Given the description of an element on the screen output the (x, y) to click on. 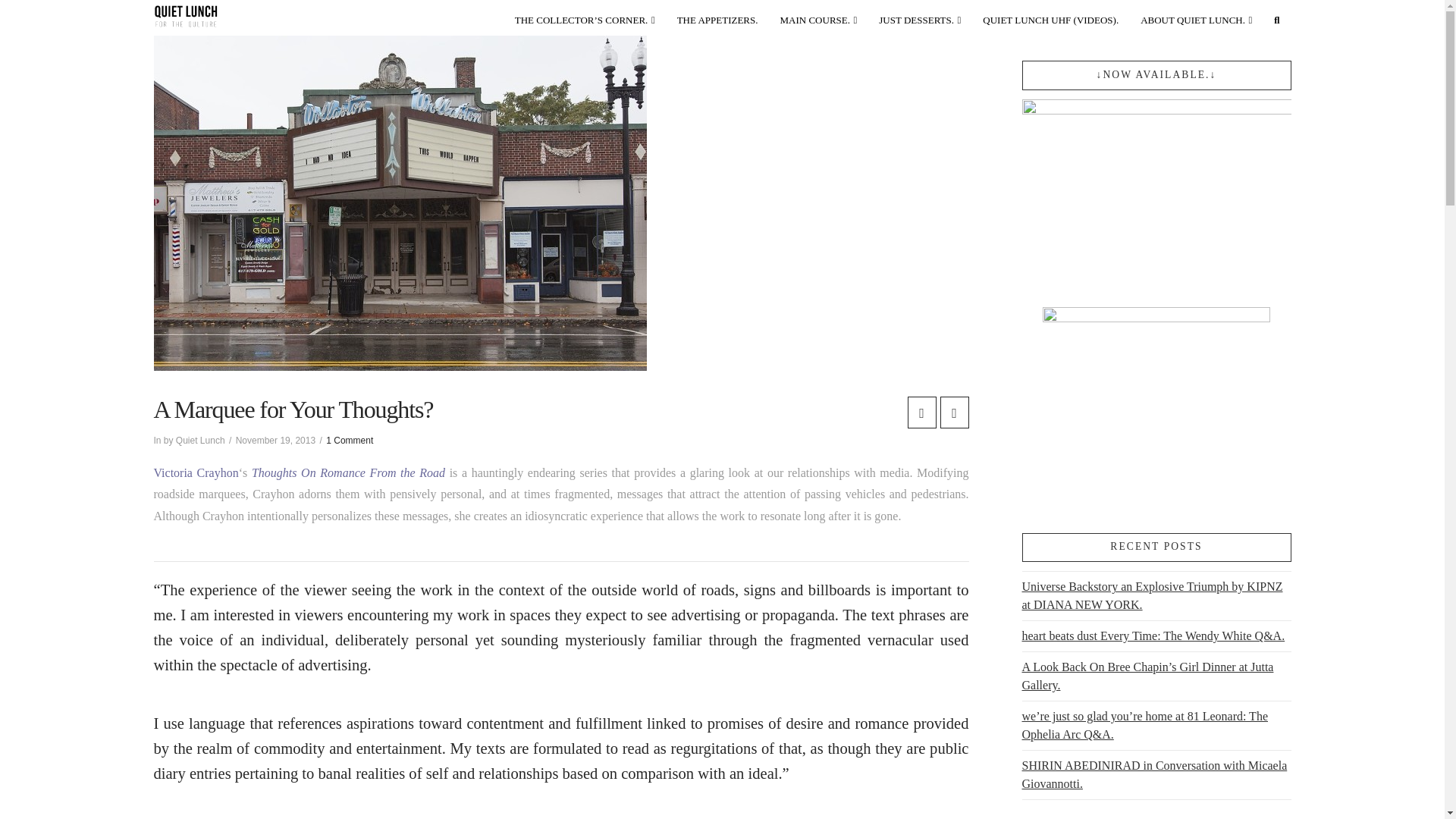
ABOUT QUIET LUNCH. (1196, 17)
THE APPETIZERS. (718, 17)
JUST DESSERTS. (919, 17)
Fresh Off The Menu (718, 17)
MAIN COURSE. (819, 17)
Quiet Lunch Online Shop (584, 17)
